Given the description of an element on the screen output the (x, y) to click on. 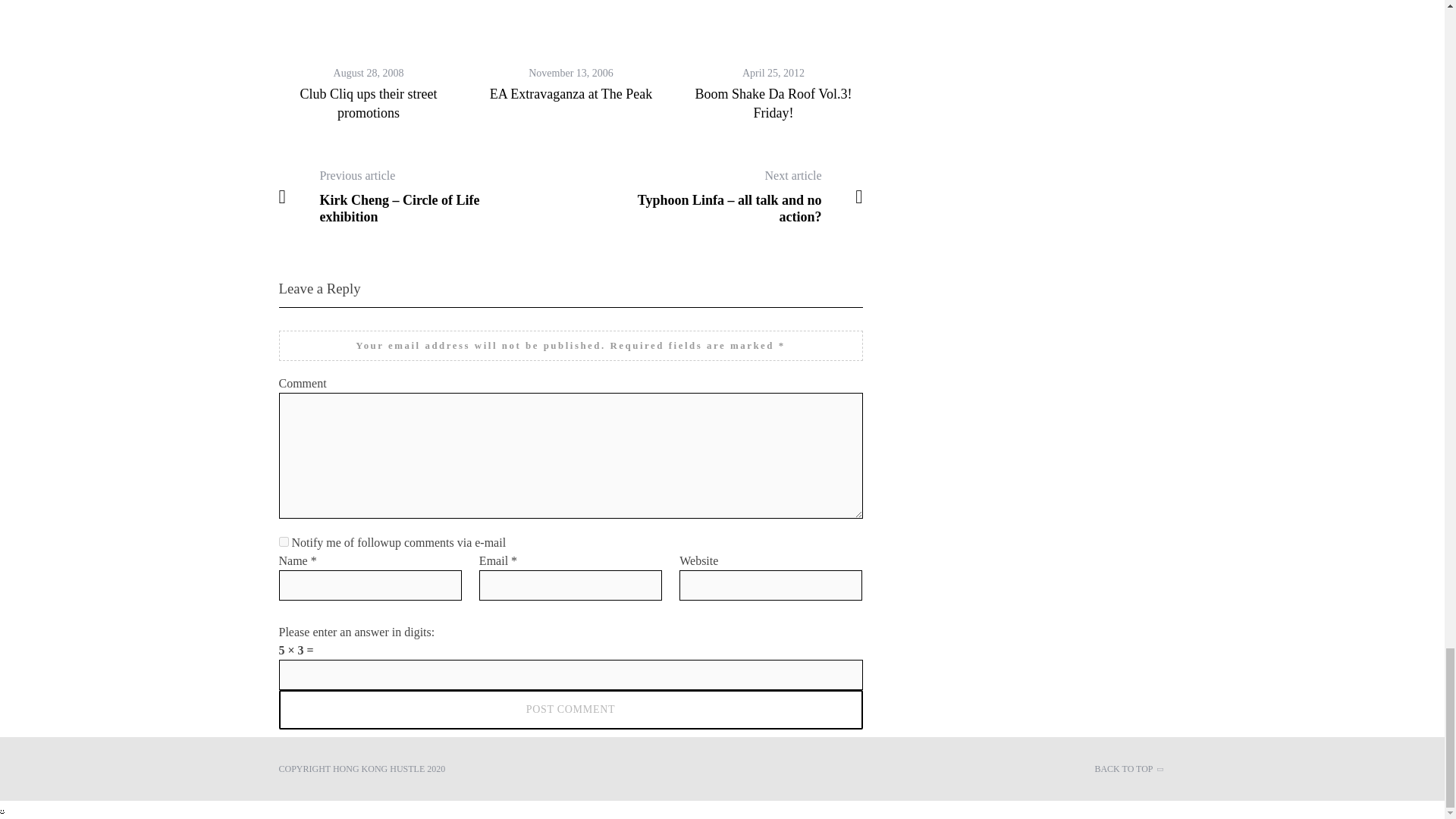
subscribe (283, 542)
Post Comment (571, 709)
